Given the description of an element on the screen output the (x, y) to click on. 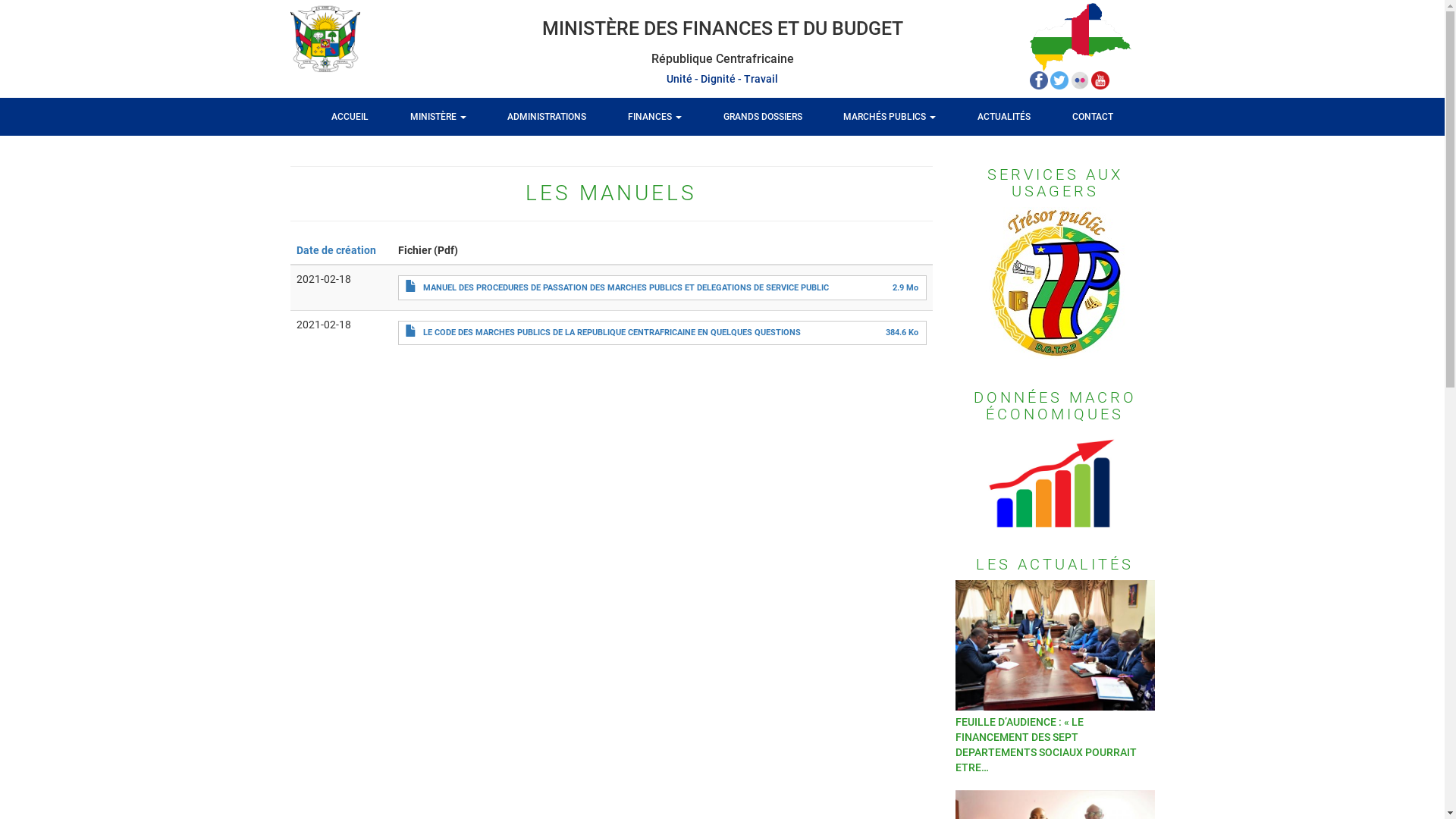
ACCUEIL Element type: text (349, 116)
Facebook Element type: hover (1039, 79)
Youtube Element type: hover (1099, 79)
Twitter Element type: hover (1059, 79)
GRANDS DOSSIERS Element type: text (762, 116)
FINANCES Element type: text (654, 116)
Flickr Element type: hover (1080, 79)
Aller au contenu principal Element type: text (0, 0)
ADMINISTRATIONS Element type: text (546, 116)
CONTACT Element type: text (1092, 116)
